Given the description of an element on the screen output the (x, y) to click on. 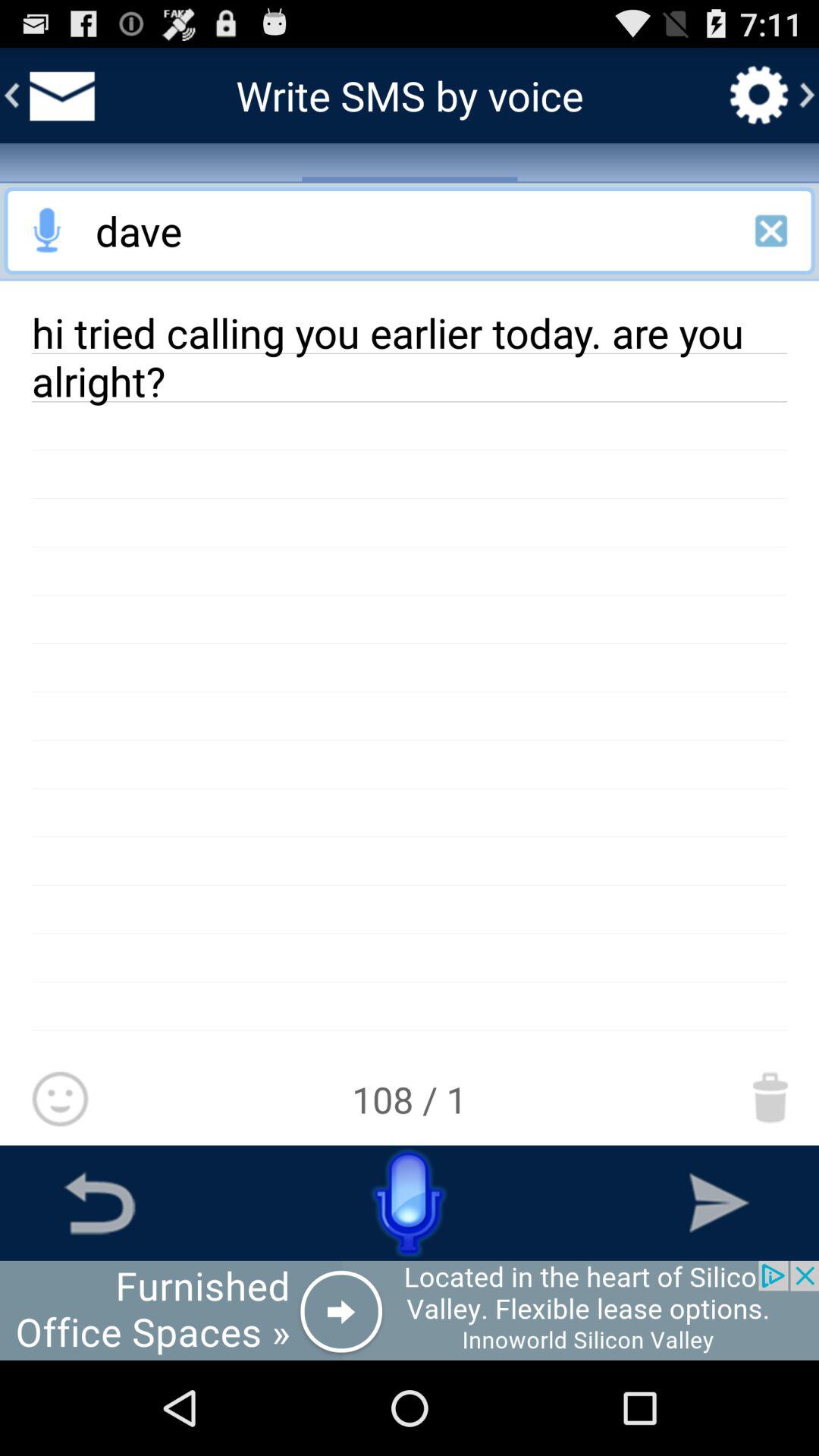
view texts (59, 95)
